Given the description of an element on the screen output the (x, y) to click on. 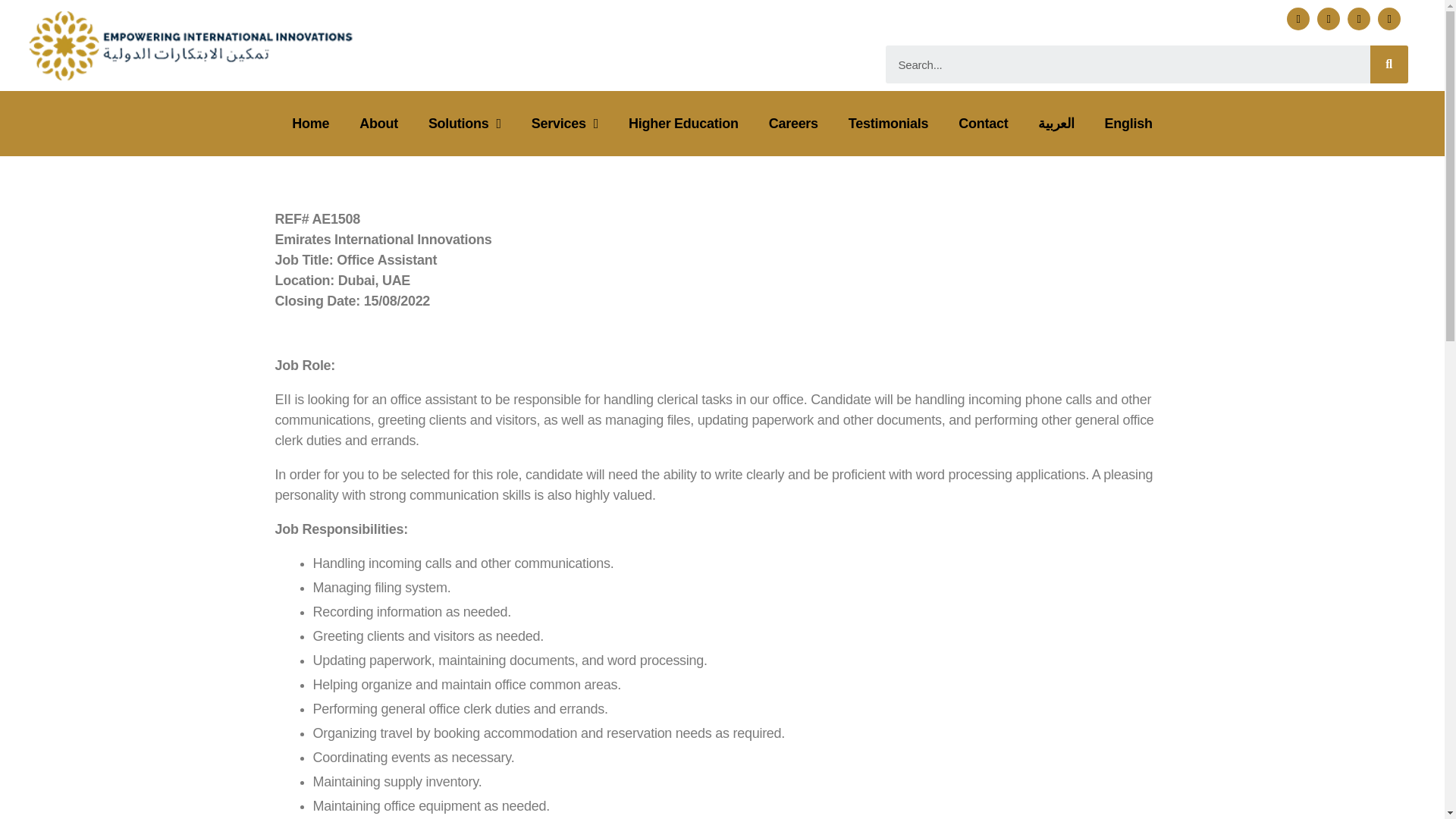
English (1128, 123)
Search (1388, 64)
Careers (793, 123)
Solutions (464, 123)
Home (309, 123)
About (378, 123)
Search (1127, 64)
Services (564, 123)
Testimonials (887, 123)
Higher Education (683, 123)
Contact (983, 123)
